Given the description of an element on the screen output the (x, y) to click on. 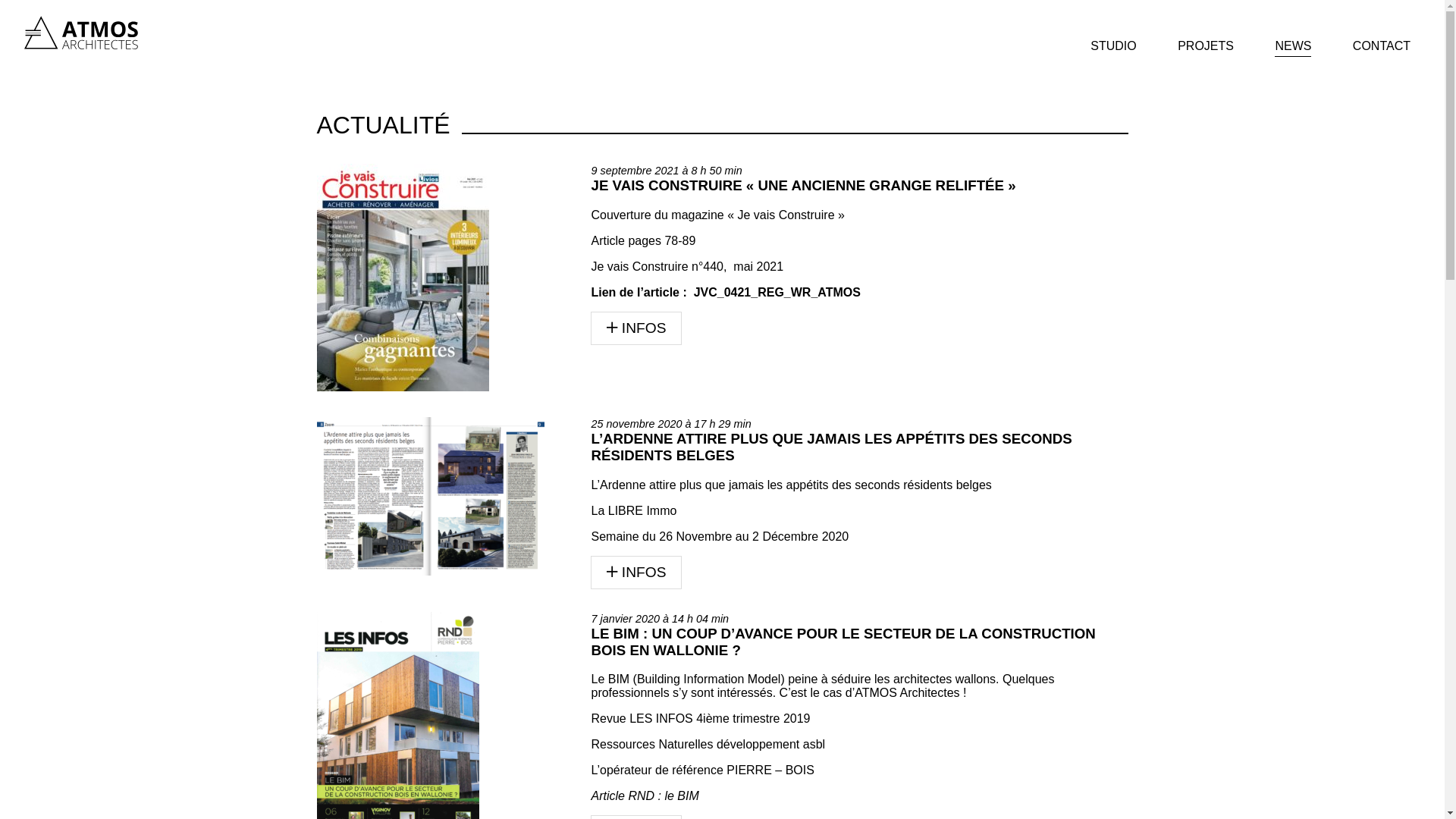
INFOS Element type: text (635, 328)
STUDIO Element type: text (1112, 45)
NEWS Element type: text (1292, 45)
CONTACT Element type: text (1381, 45)
Article RND : le BIM Element type: text (644, 795)
INFOS Element type: text (635, 572)
PROJETS Element type: text (1205, 45)
